Given the description of an element on the screen output the (x, y) to click on. 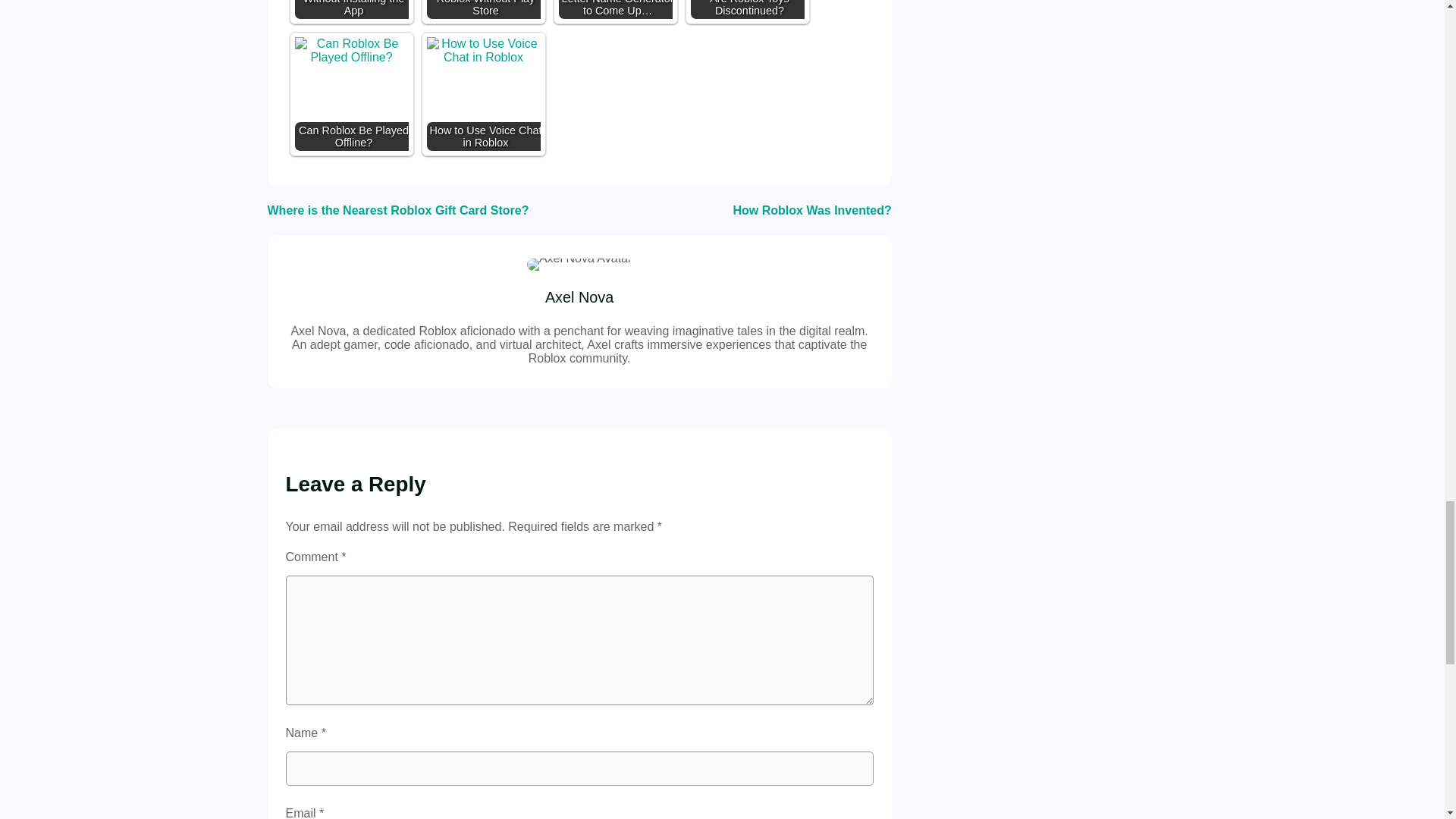
How Roblox Was Invented? (811, 210)
Where is the Nearest Roblox Gift Card Store? (397, 210)
Are Roblox Toys Discontinued? (746, 9)
Can Roblox Be Played Offline? (350, 50)
Can Roblox Be Played Offline? (350, 93)
How to Play Roblox Without Installing the App (350, 9)
How to Use Voice Chat in Roblox (483, 50)
How to Download Roblox Without Play Store (483, 9)
How to Use Voice Chat in Roblox (483, 93)
